Given the description of an element on the screen output the (x, y) to click on. 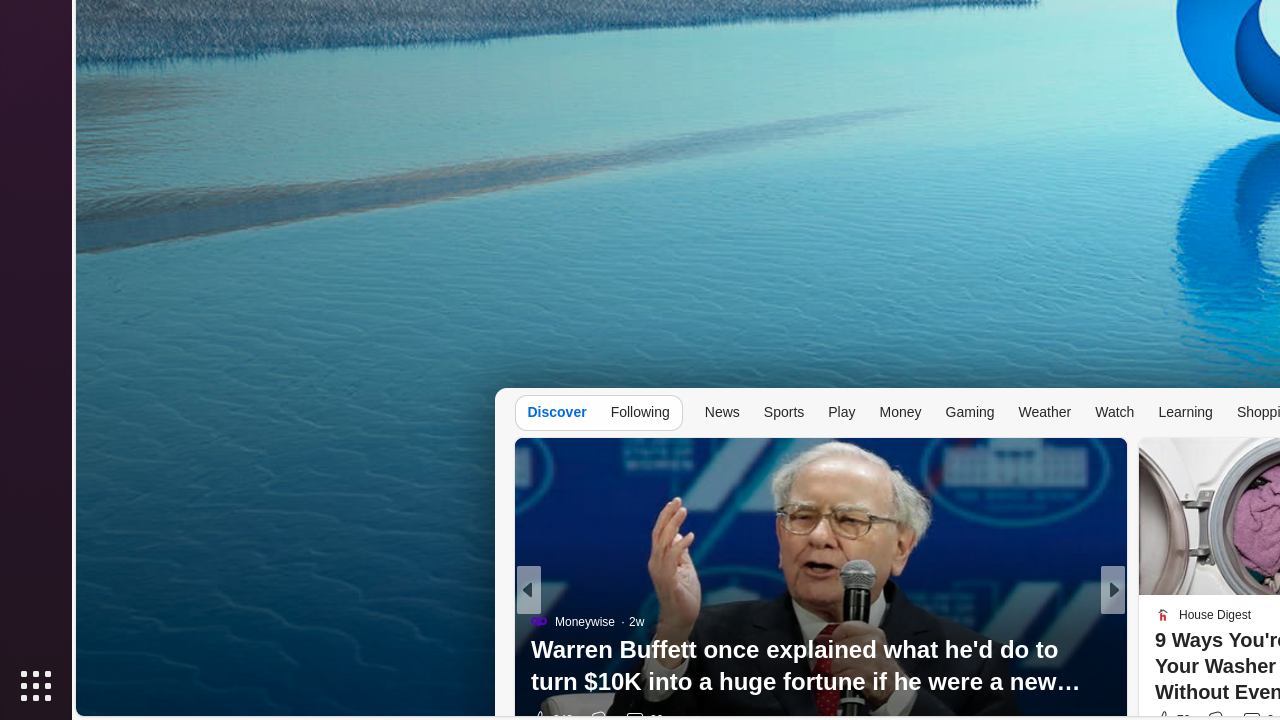
Learning Element type: link (1185, 412)
Show Applications Element type: toggle-button (36, 686)
2024年最好玩的遊戲 Element type: link (820, 686)
Watch Element type: link (1115, 412)
Play Element type: link (842, 412)
